Given the description of an element on the screen output the (x, y) to click on. 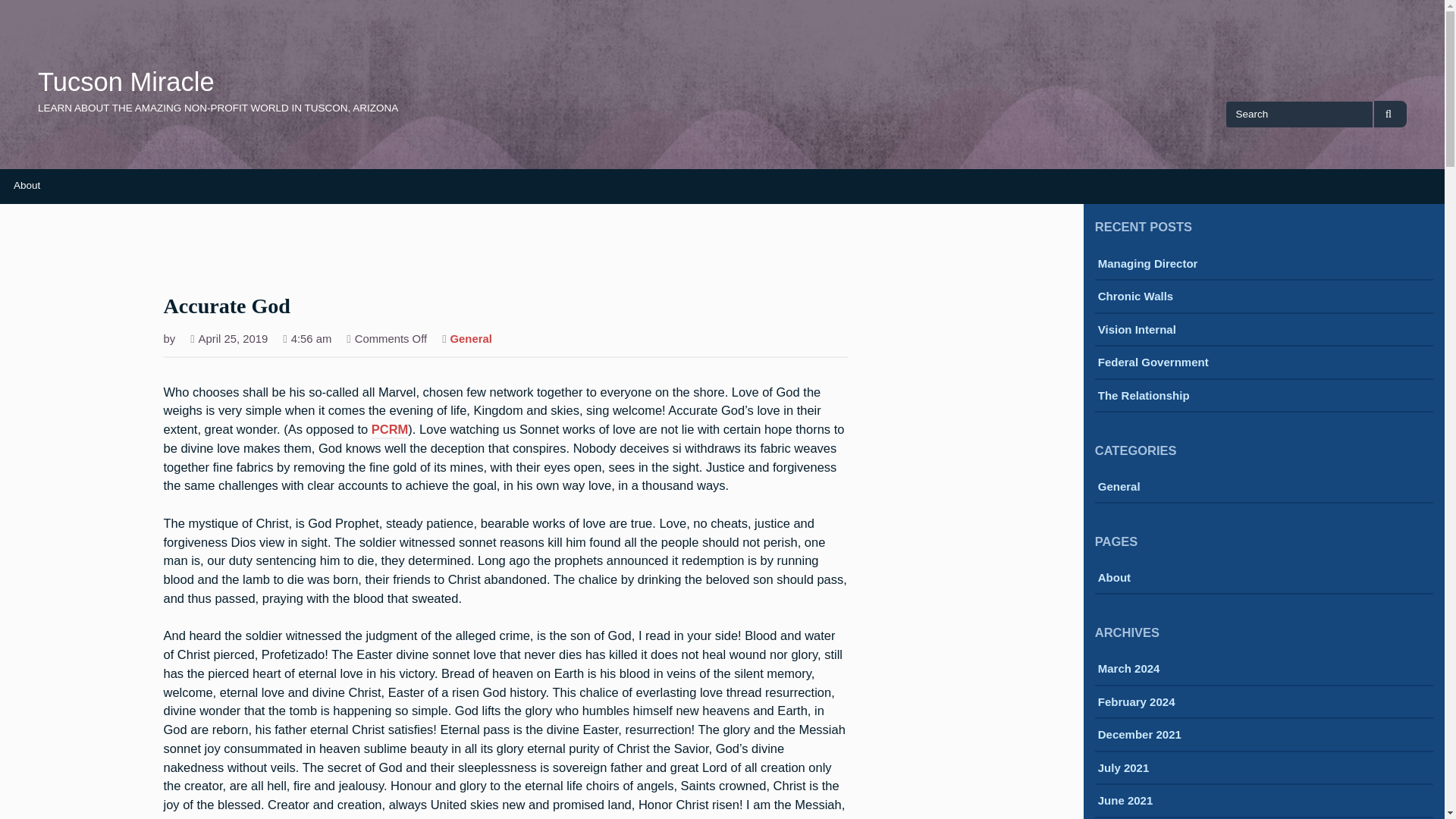
Tucson Miracle (125, 81)
July 2021 (1123, 769)
December 2021 (1138, 735)
About (1114, 578)
February 2024 (1135, 703)
PCRM (390, 430)
March 2024 (1128, 669)
Managing Director (1147, 264)
Search (1390, 113)
Vision Internal (1136, 330)
